Given the description of an element on the screen output the (x, y) to click on. 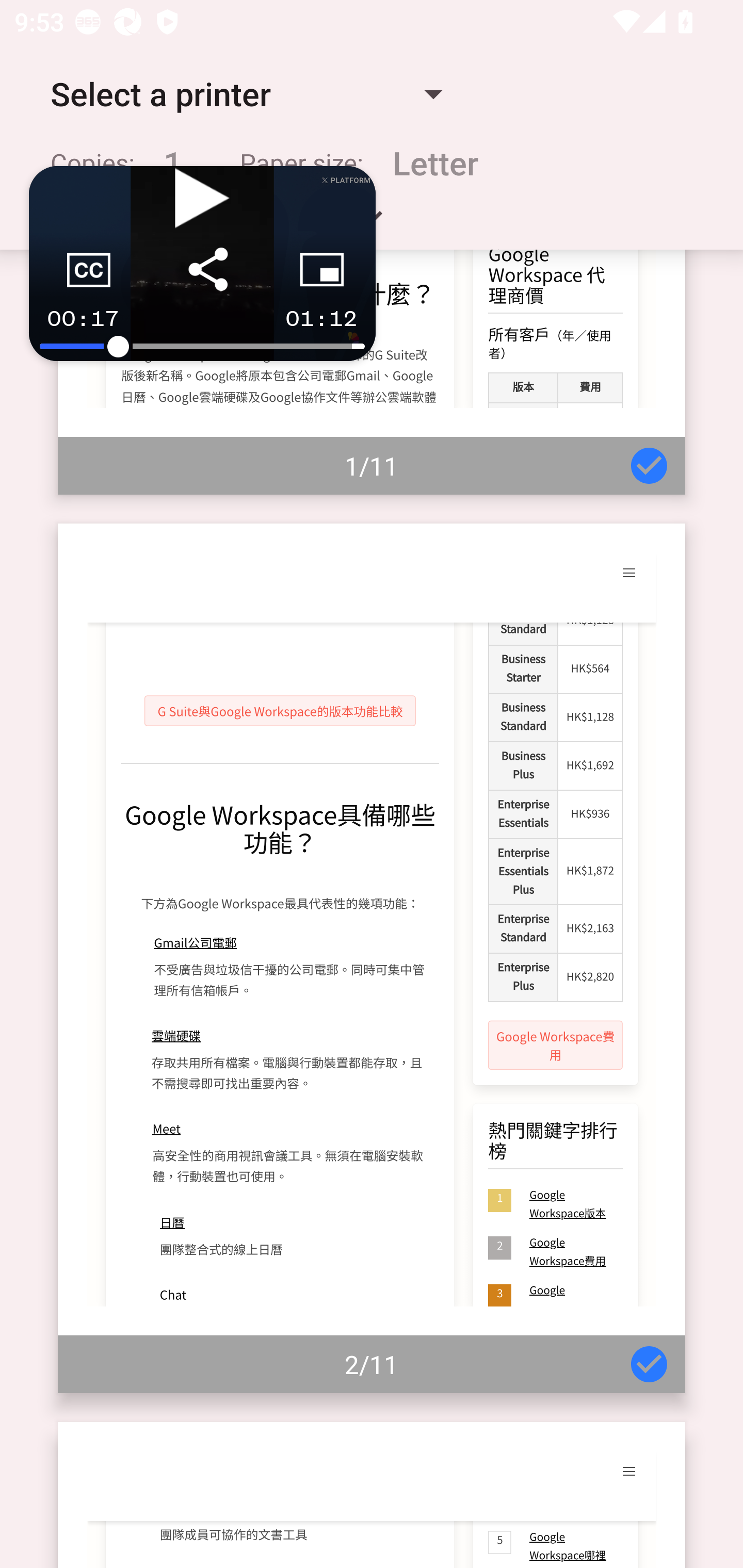
Select a printer (245, 93)
Page 2 of 11 2/11 (371, 957)
